Given the description of an element on the screen output the (x, y) to click on. 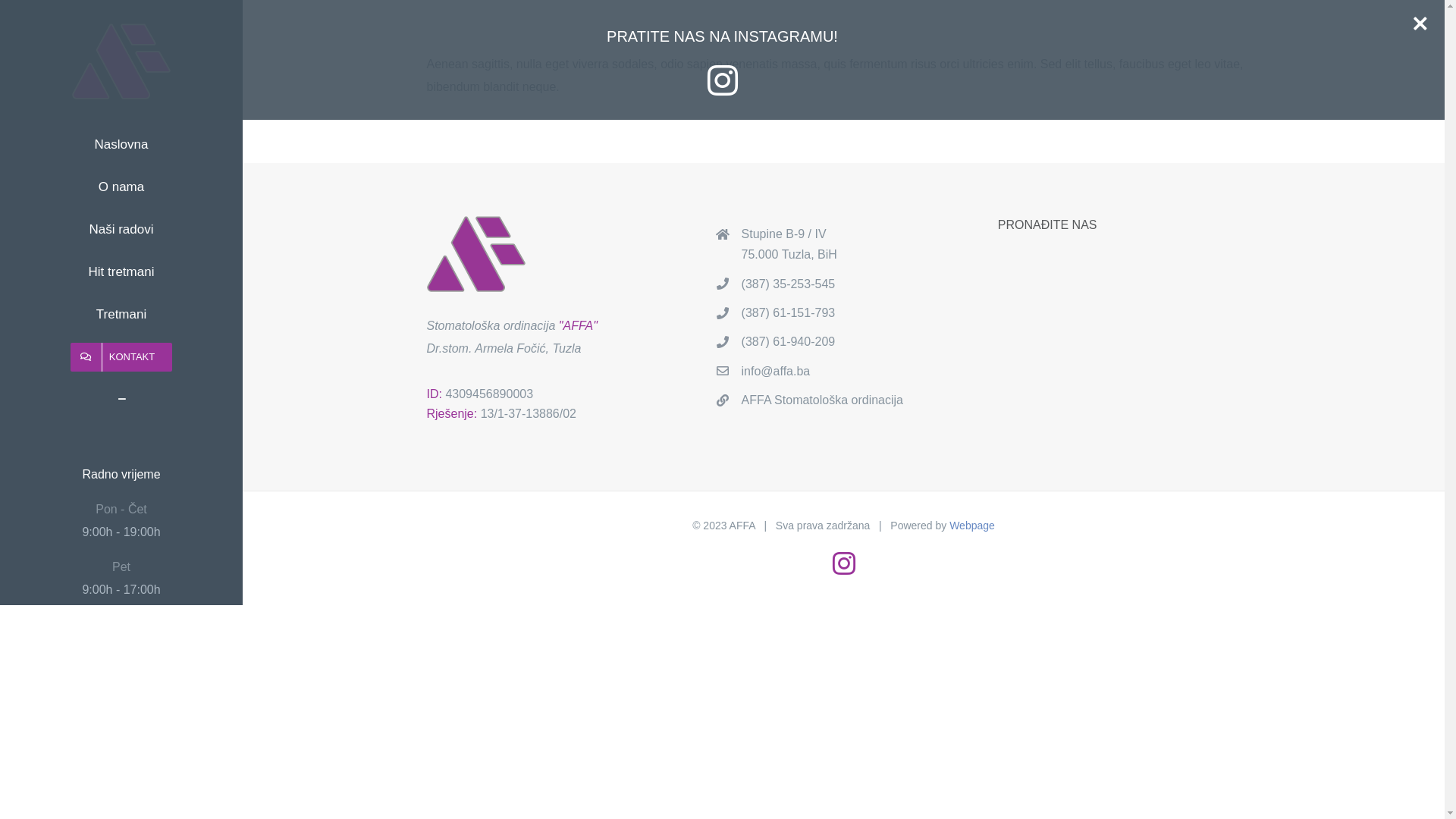
KONTAKT Element type: text (121, 356)
Instagram Element type: text (843, 563)
Close Sliding Bar Area Element type: text (1415, 15)
Hit tretmani Element type: text (121, 272)
Toggle Sliding Bar Element type: hover (121, 399)
info@affa.ba Element type: text (858, 370)
Naslovna Element type: text (121, 144)
O nama Element type: text (121, 187)
Webpage Element type: text (971, 525)
Tretmani Element type: text (121, 314)
